Given the description of an element on the screen output the (x, y) to click on. 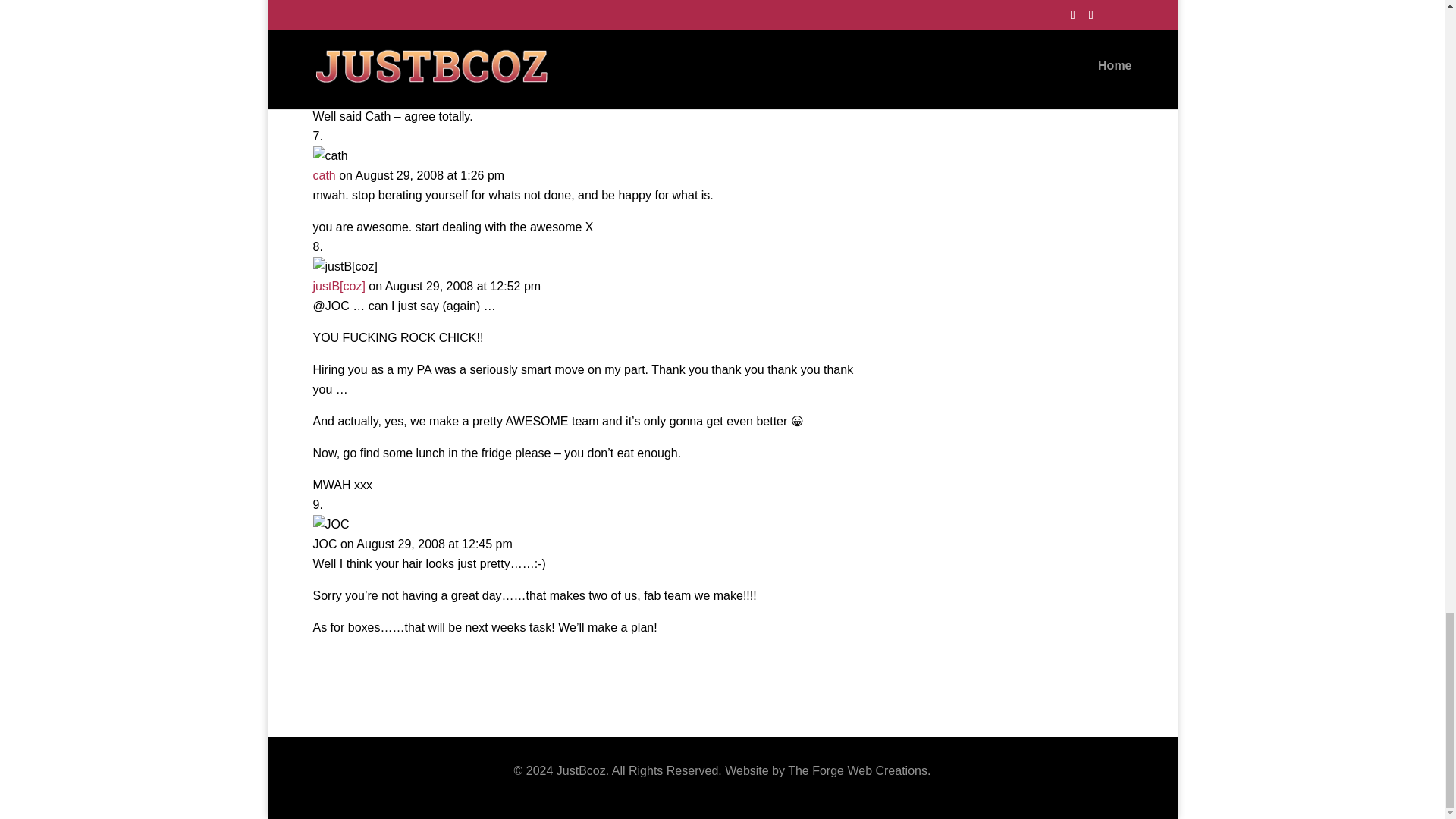
cath (323, 174)
